Given the description of an element on the screen output the (x, y) to click on. 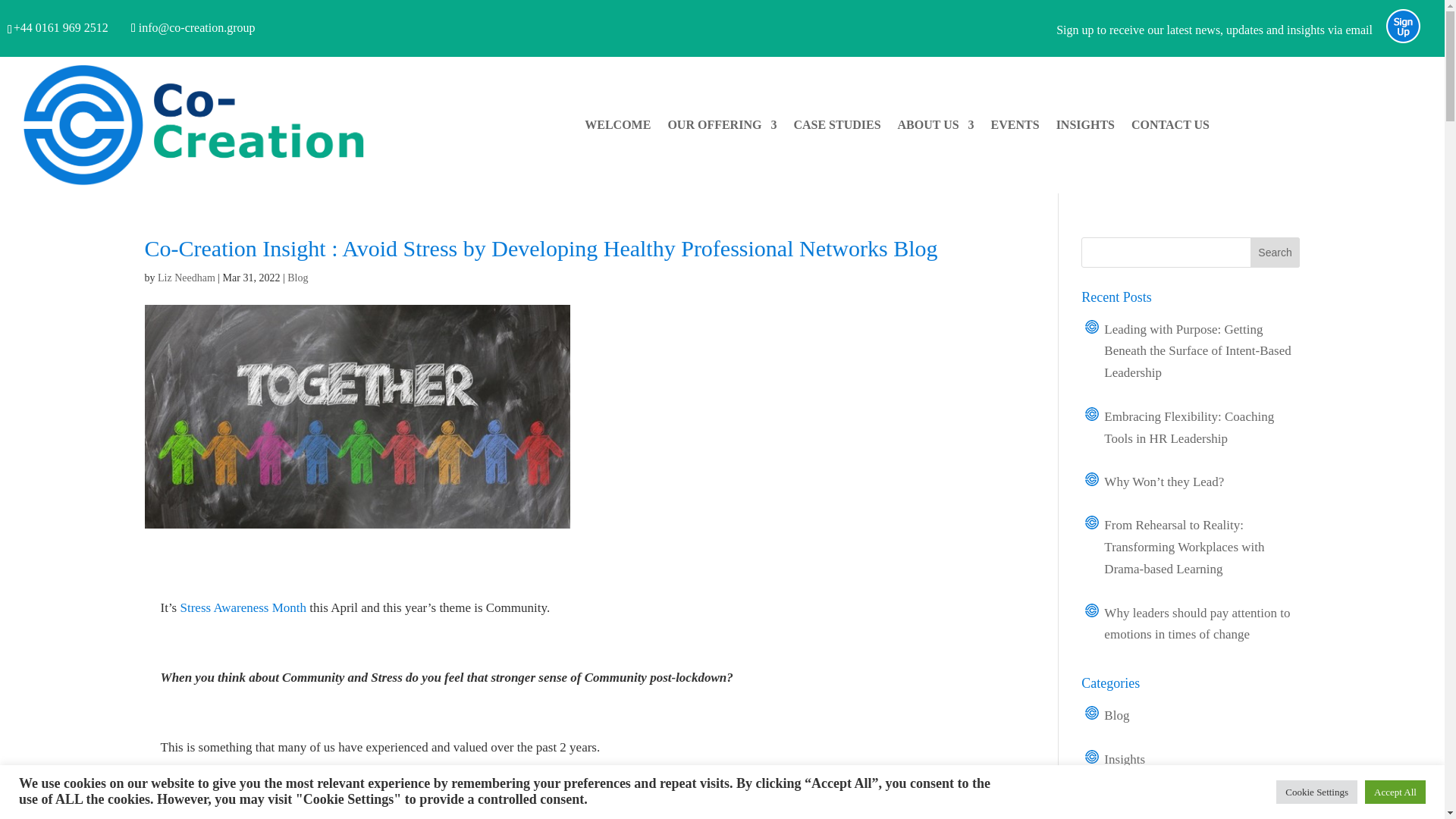
OUR OFFERING (721, 127)
EVENTS (1015, 127)
Posts by Liz Needham (186, 277)
WELCOME (617, 127)
cocreation-correct-logo (194, 124)
Search (1275, 252)
CONTACT US (1170, 127)
ABOUT US (936, 127)
INSIGHTS (1086, 127)
CASE STUDIES (836, 127)
